Given the description of an element on the screen output the (x, y) to click on. 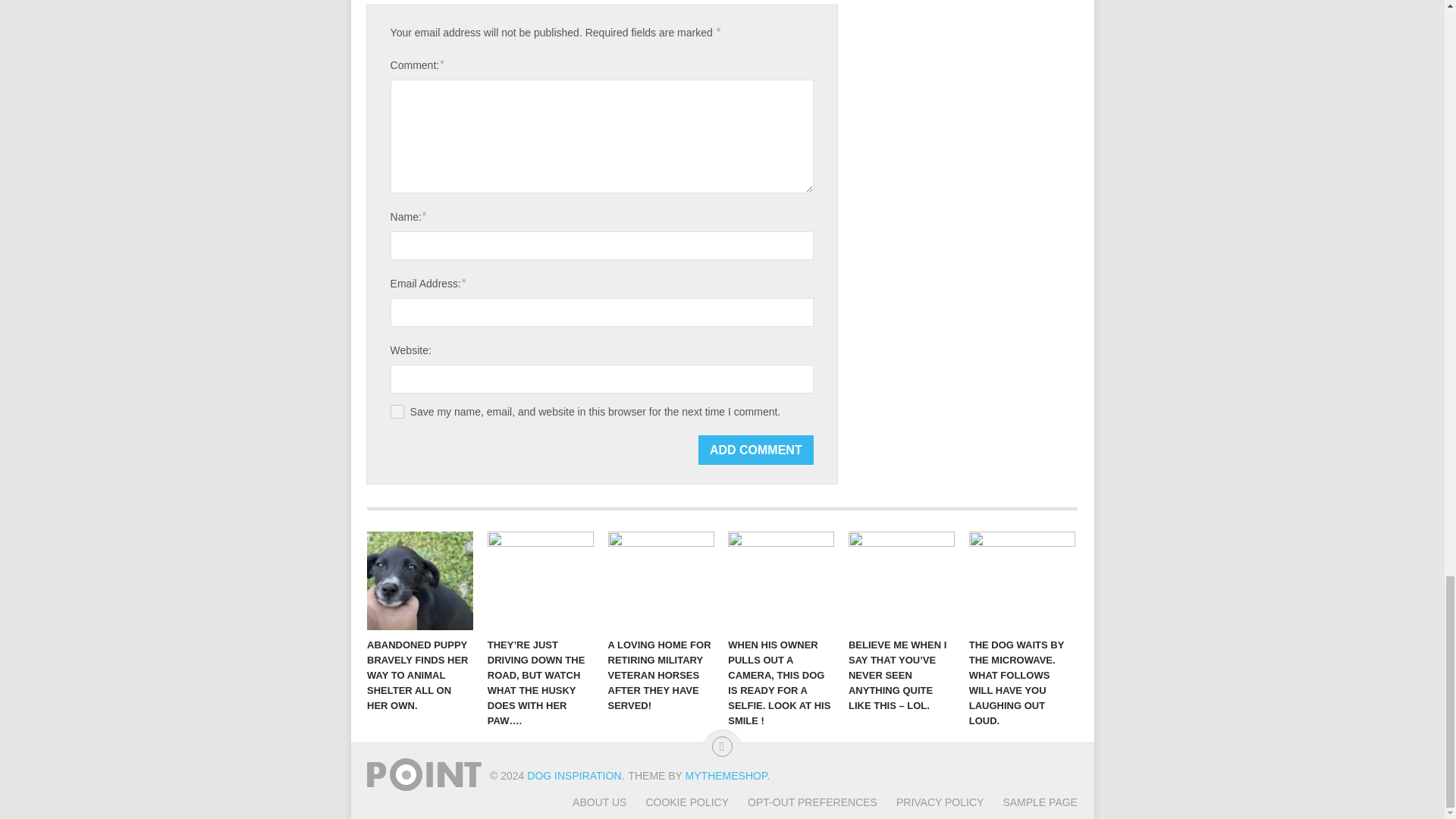
Add Comment (755, 449)
Add Comment (755, 449)
yes (397, 411)
